Given the description of an element on the screen output the (x, y) to click on. 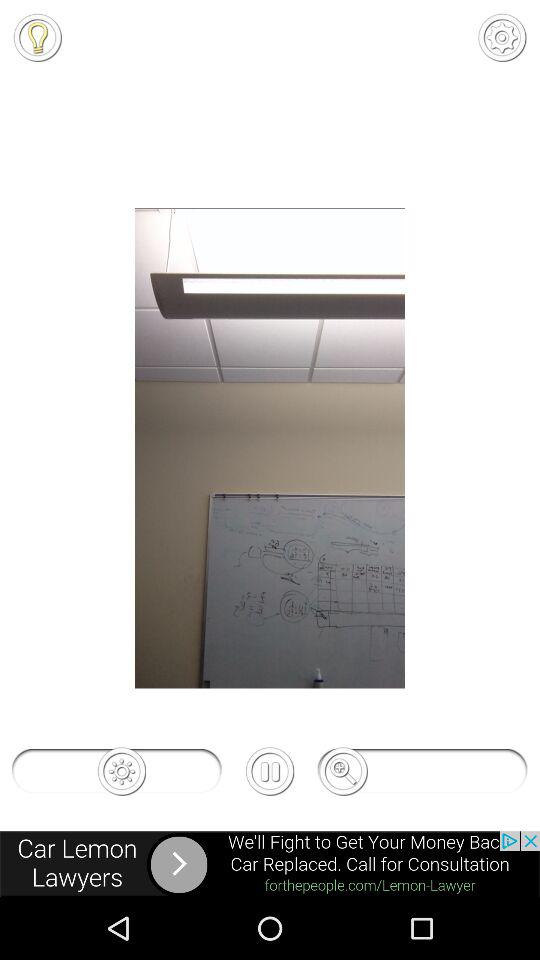
access advertising (270, 864)
